Given the description of an element on the screen output the (x, y) to click on. 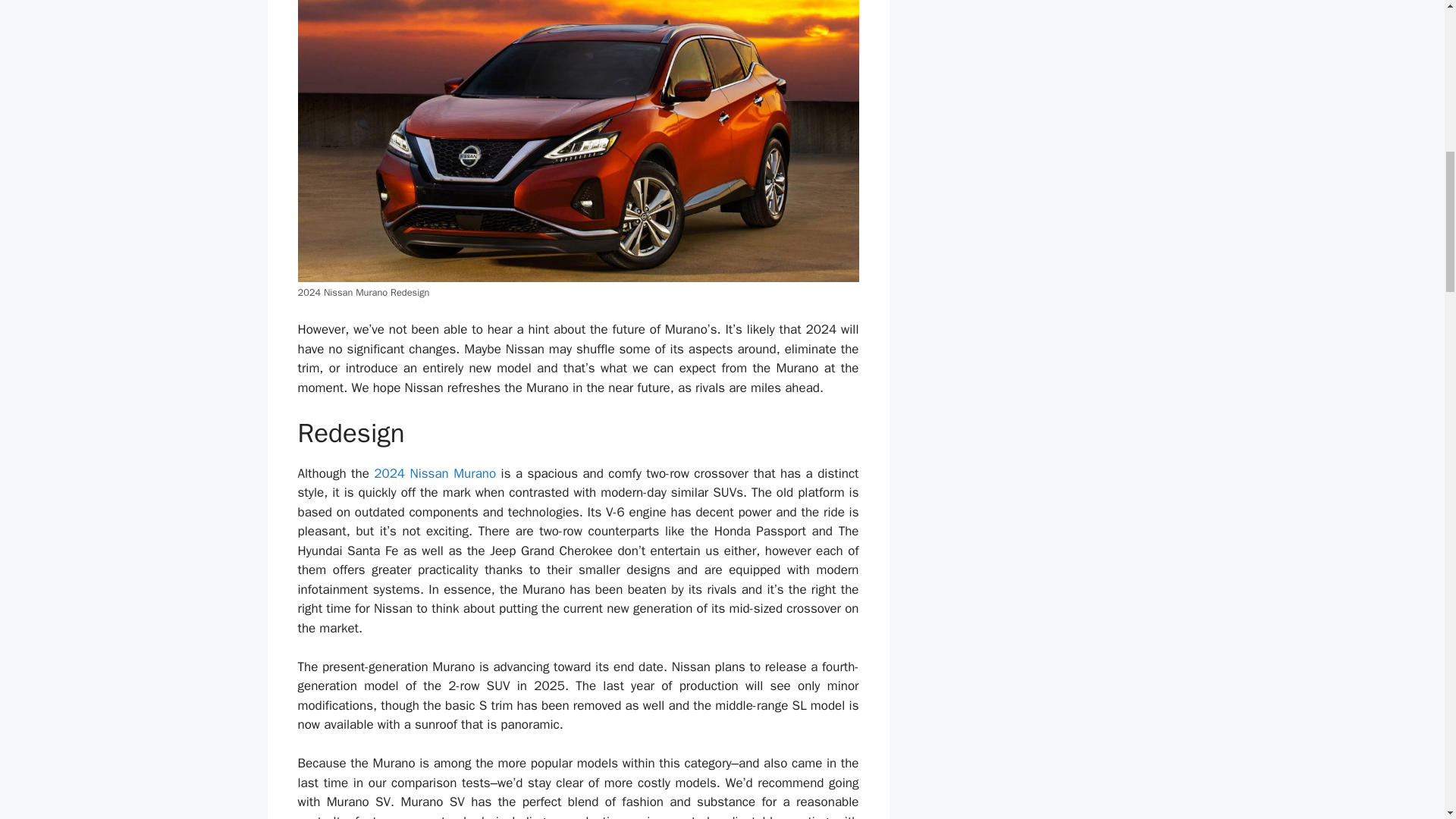
2024 Nissan Murano (432, 473)
